Given the description of an element on the screen output the (x, y) to click on. 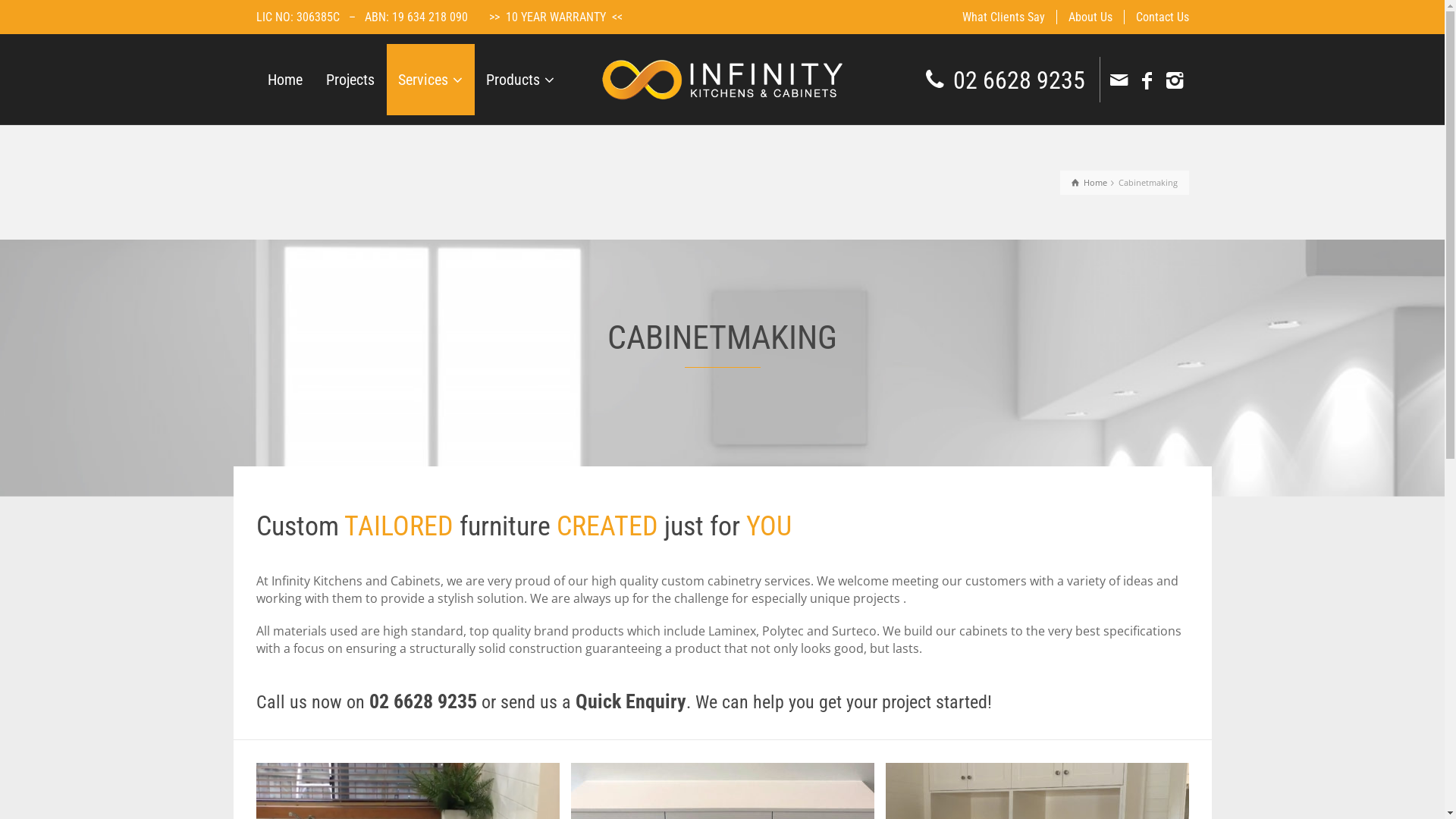
What Clients Say Element type: text (1003, 16)
Instagram Element type: hover (1176, 80)
About Us Element type: text (1090, 16)
Quick Enquiry Element type: text (629, 701)
Services Element type: text (430, 79)
Home Element type: text (285, 79)
02 6628 9235 Element type: text (422, 701)
Contact Us Element type: text (1155, 16)
Products Element type: text (520, 79)
Email Element type: hover (1119, 80)
02 6628 9235 Element type: text (1019, 80)
Infinity Kitchens & Cabinets Element type: hover (721, 77)
Facebook Element type: hover (1148, 80)
Home Element type: text (1089, 181)
Projects Element type: text (349, 79)
